Given the description of an element on the screen output the (x, y) to click on. 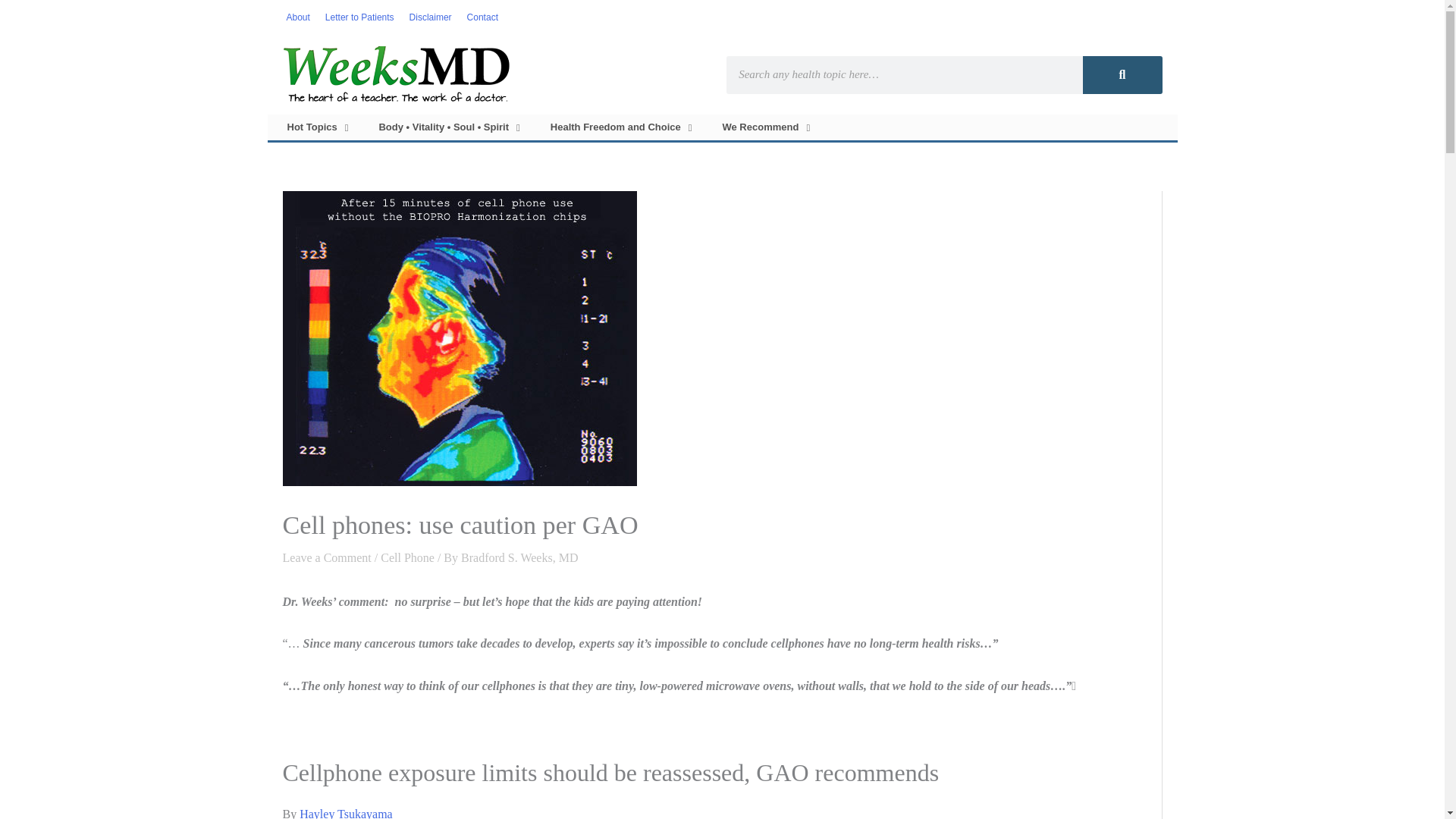
View all posts by Bradford S. Weeks, MD (519, 557)
